Given the description of an element on the screen output the (x, y) to click on. 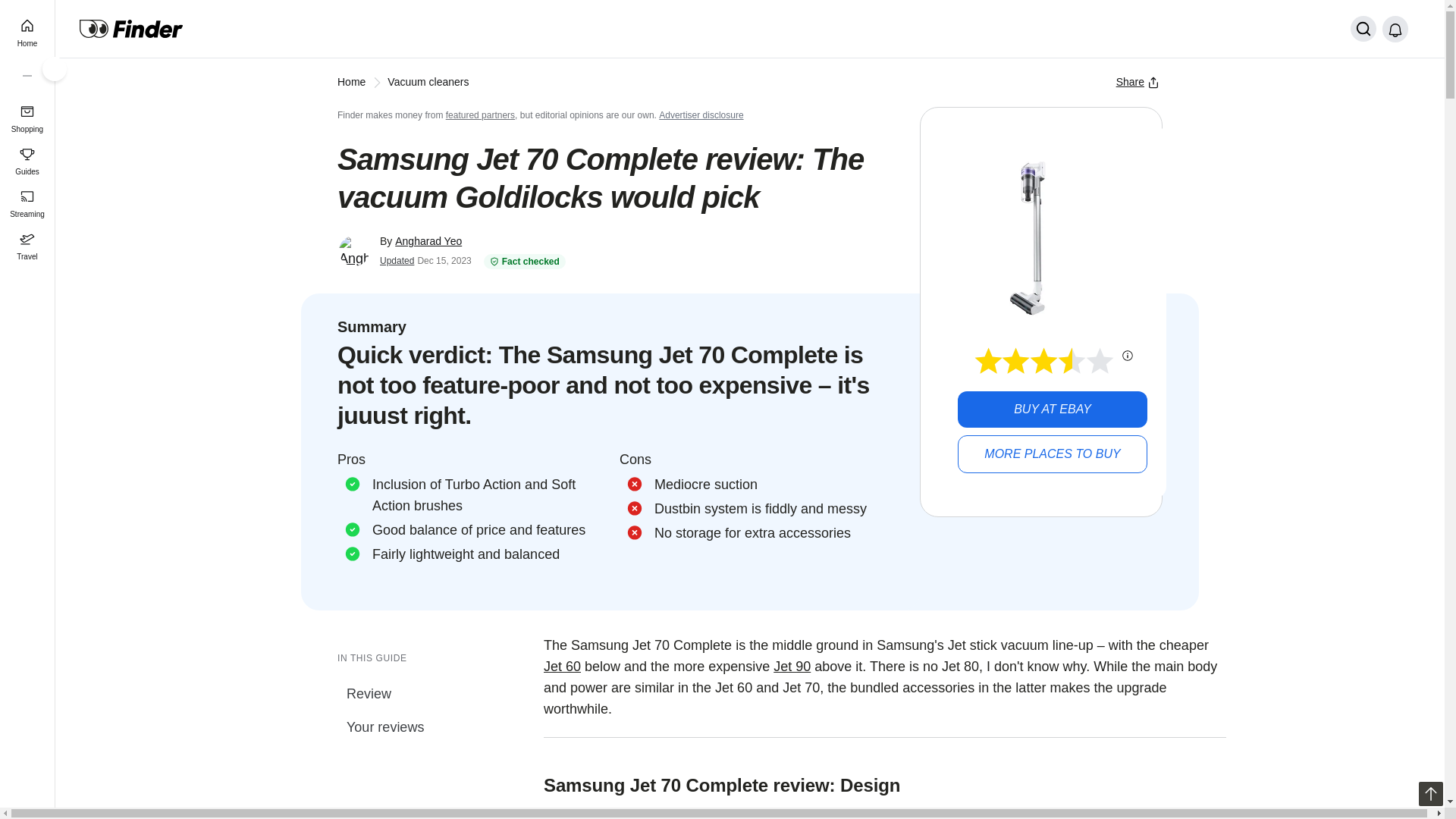
Important information about this website (700, 114)
Vacuum cleaners (417, 82)
BUY AT EBAY (1052, 409)
Back to Top (1430, 793)
Share (1137, 82)
Advertiser disclosure (700, 114)
Home (351, 82)
MORE PLACES TO BUY (1052, 453)
Angharad Yeo (427, 241)
Jet 60 (561, 666)
featured partners (480, 114)
